Given the description of an element on the screen output the (x, y) to click on. 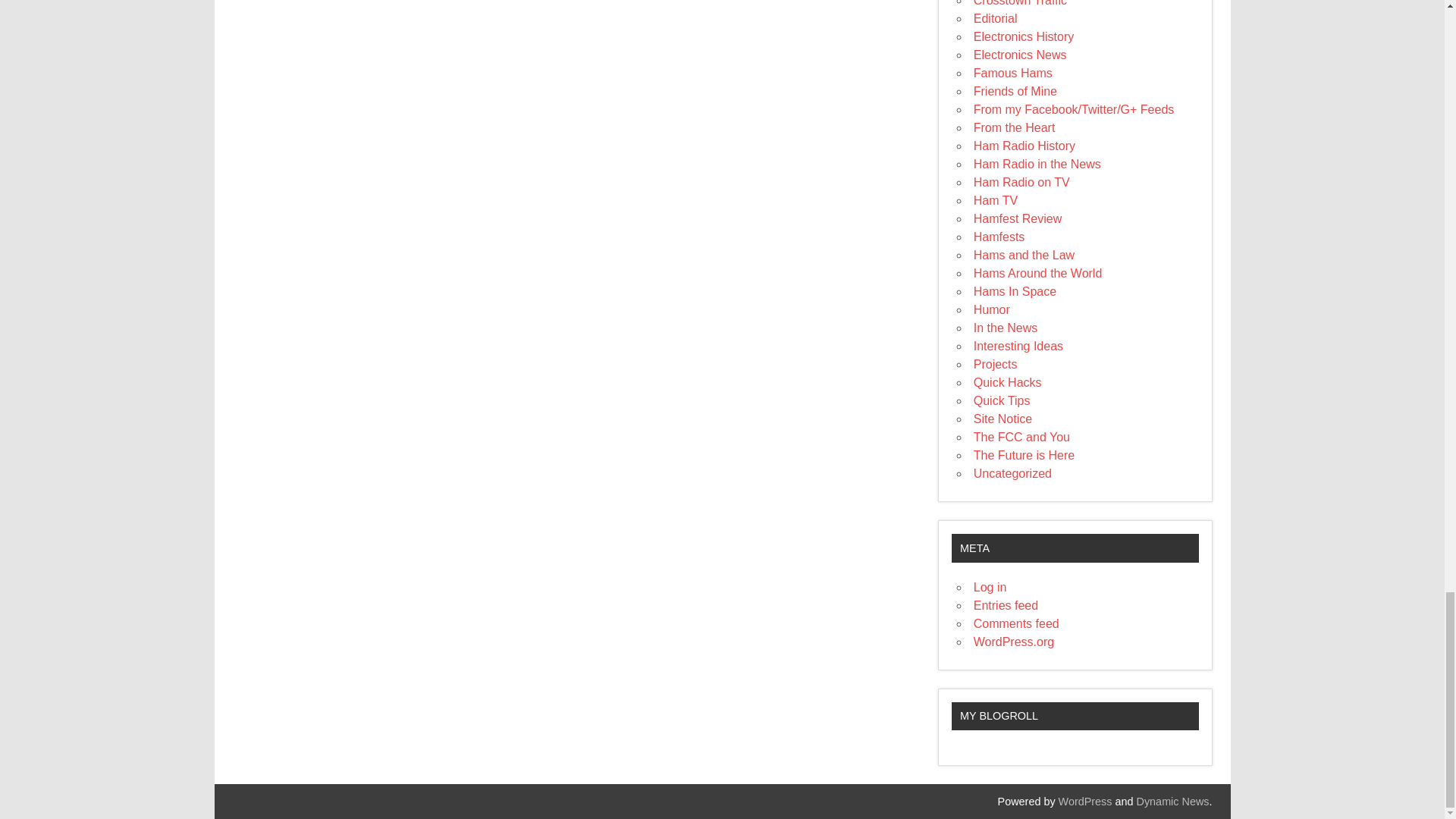
Dynamic News WordPress Theme (1173, 801)
WordPress (1085, 801)
